Given the description of an element on the screen output the (x, y) to click on. 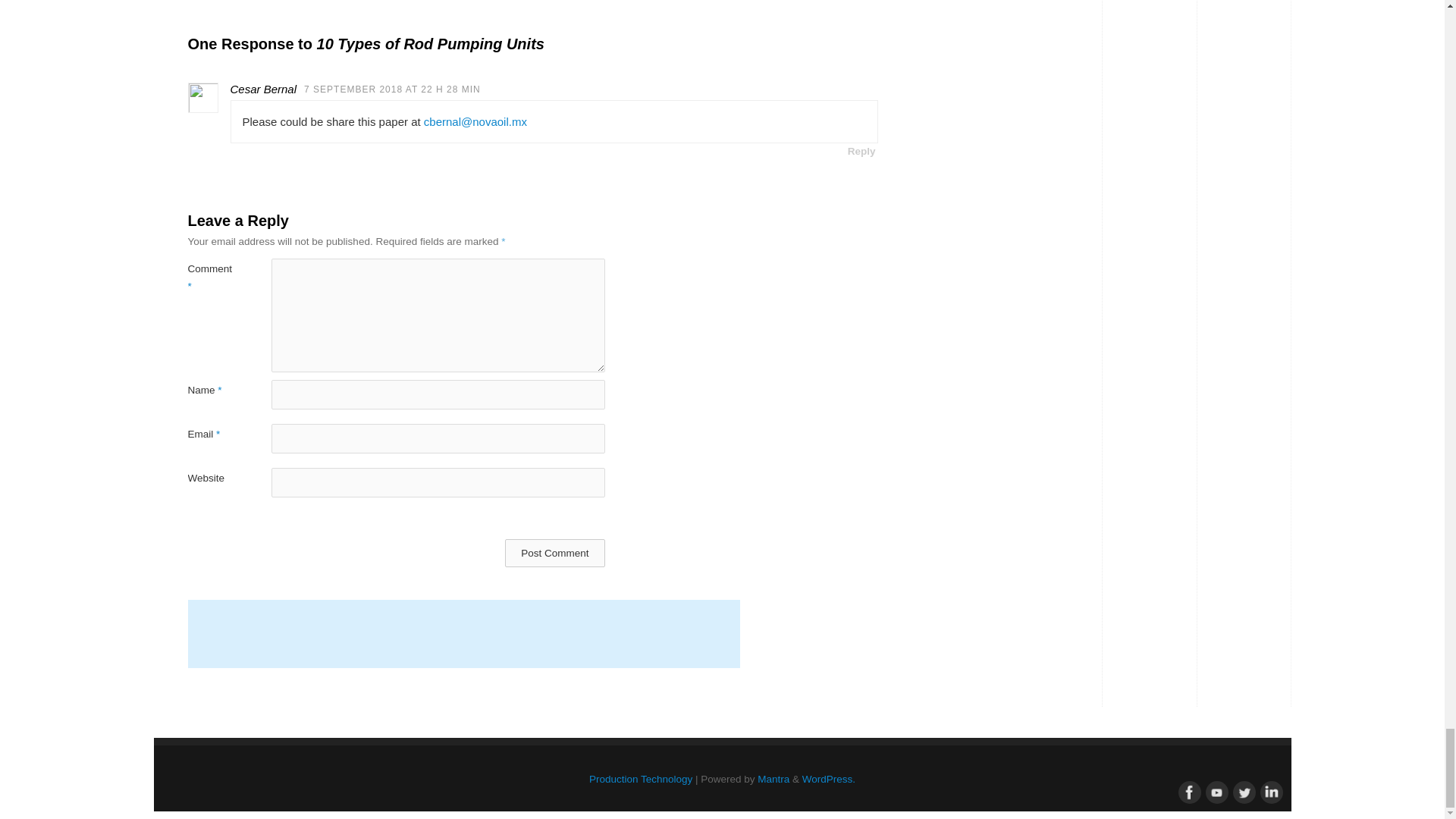
Production Technology (641, 778)
Post Comment (554, 552)
